Given the description of an element on the screen output the (x, y) to click on. 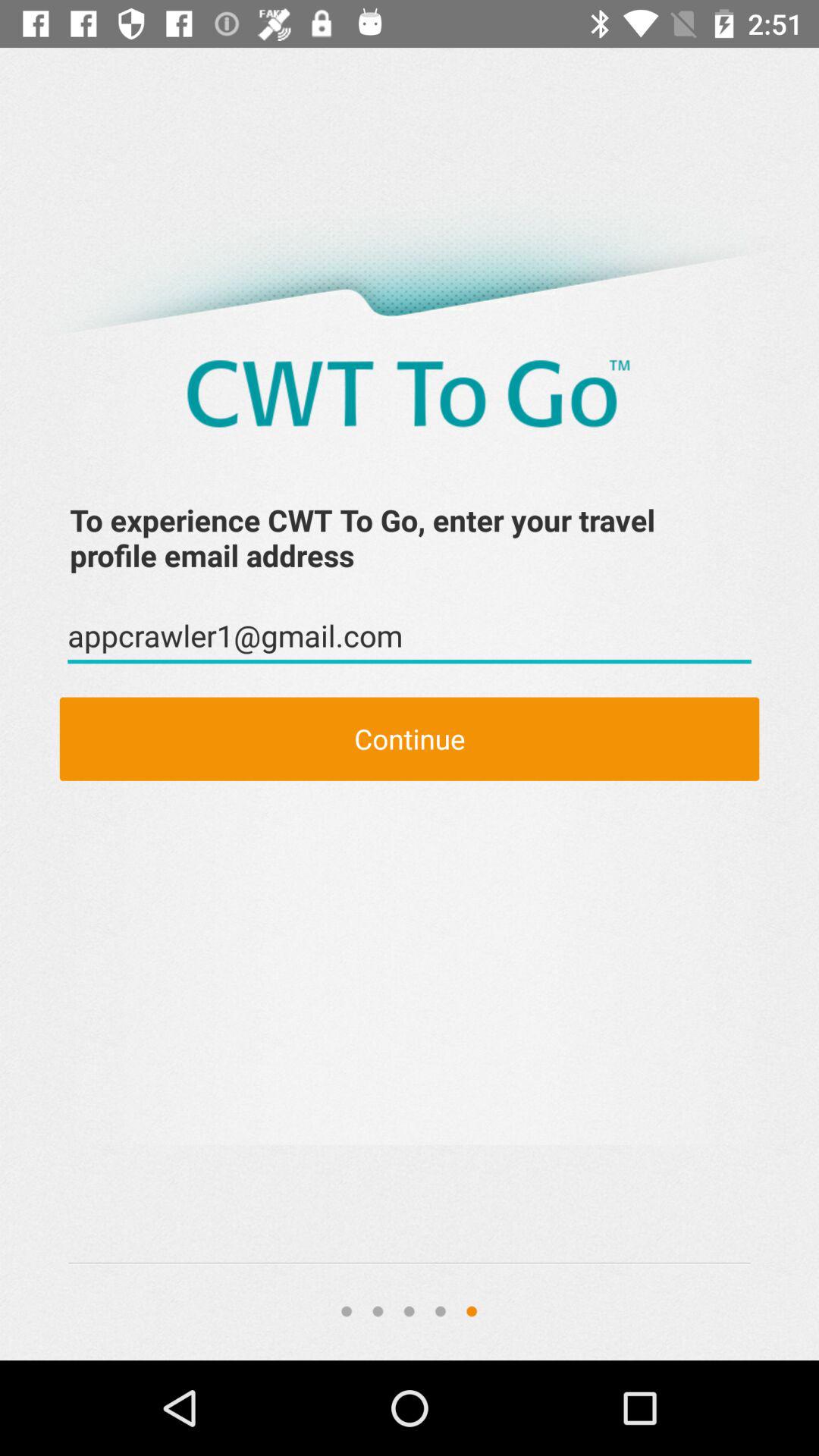
launch appcrawler1@gmail.com item (409, 636)
